Given the description of an element on the screen output the (x, y) to click on. 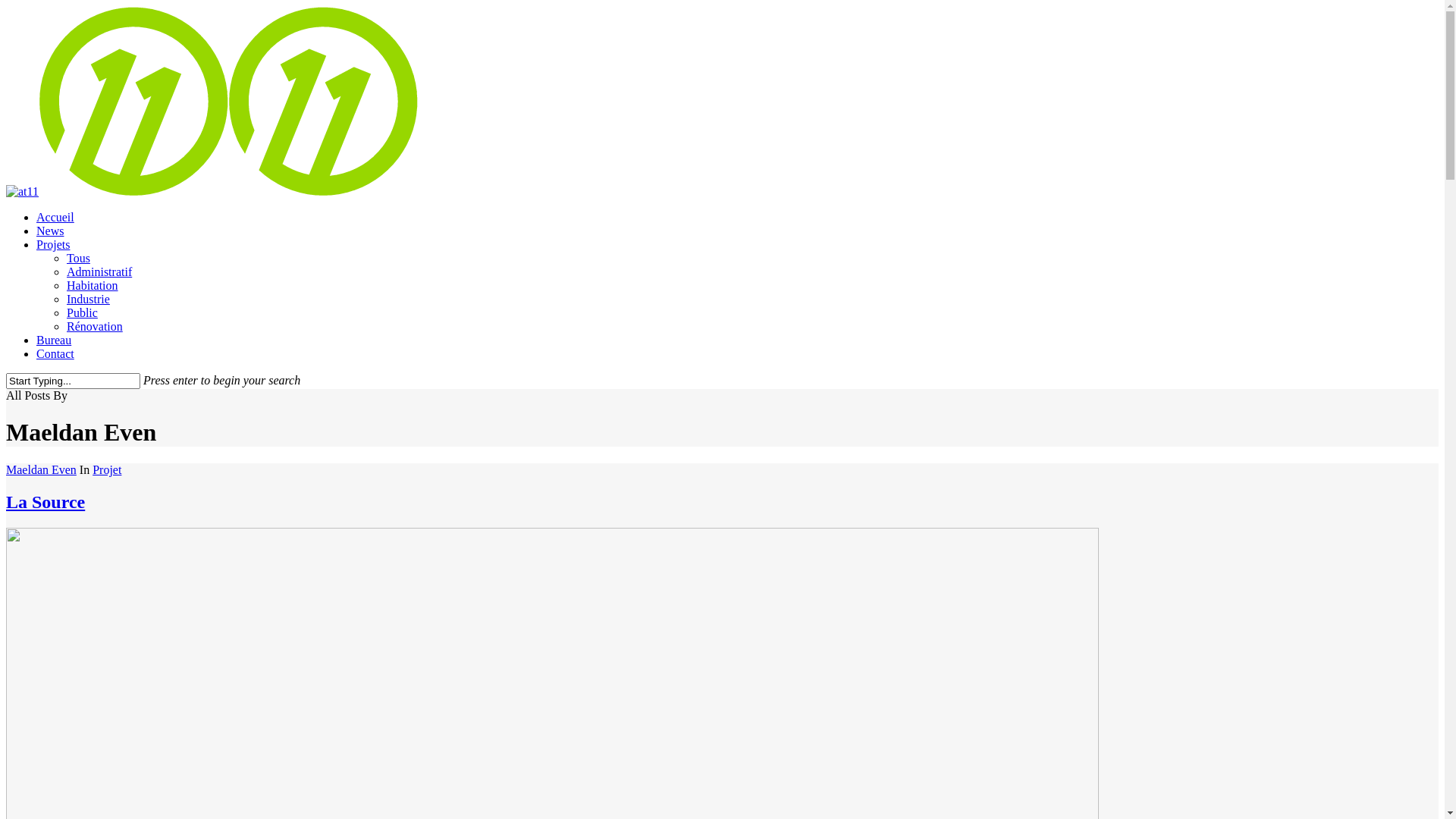
Projet Element type: text (106, 469)
Public Element type: text (81, 312)
Habitation Element type: text (92, 285)
Administratif Element type: text (98, 271)
Projets Element type: text (52, 244)
Accueil Element type: text (55, 216)
Skip to main content Element type: text (5, 5)
News Element type: text (49, 230)
La Source Element type: text (45, 501)
Tous Element type: text (78, 257)
Bureau Element type: text (53, 339)
Industrie Element type: text (87, 298)
Contact Element type: text (55, 353)
Maeldan Even Element type: text (41, 469)
